Given the description of an element on the screen output the (x, y) to click on. 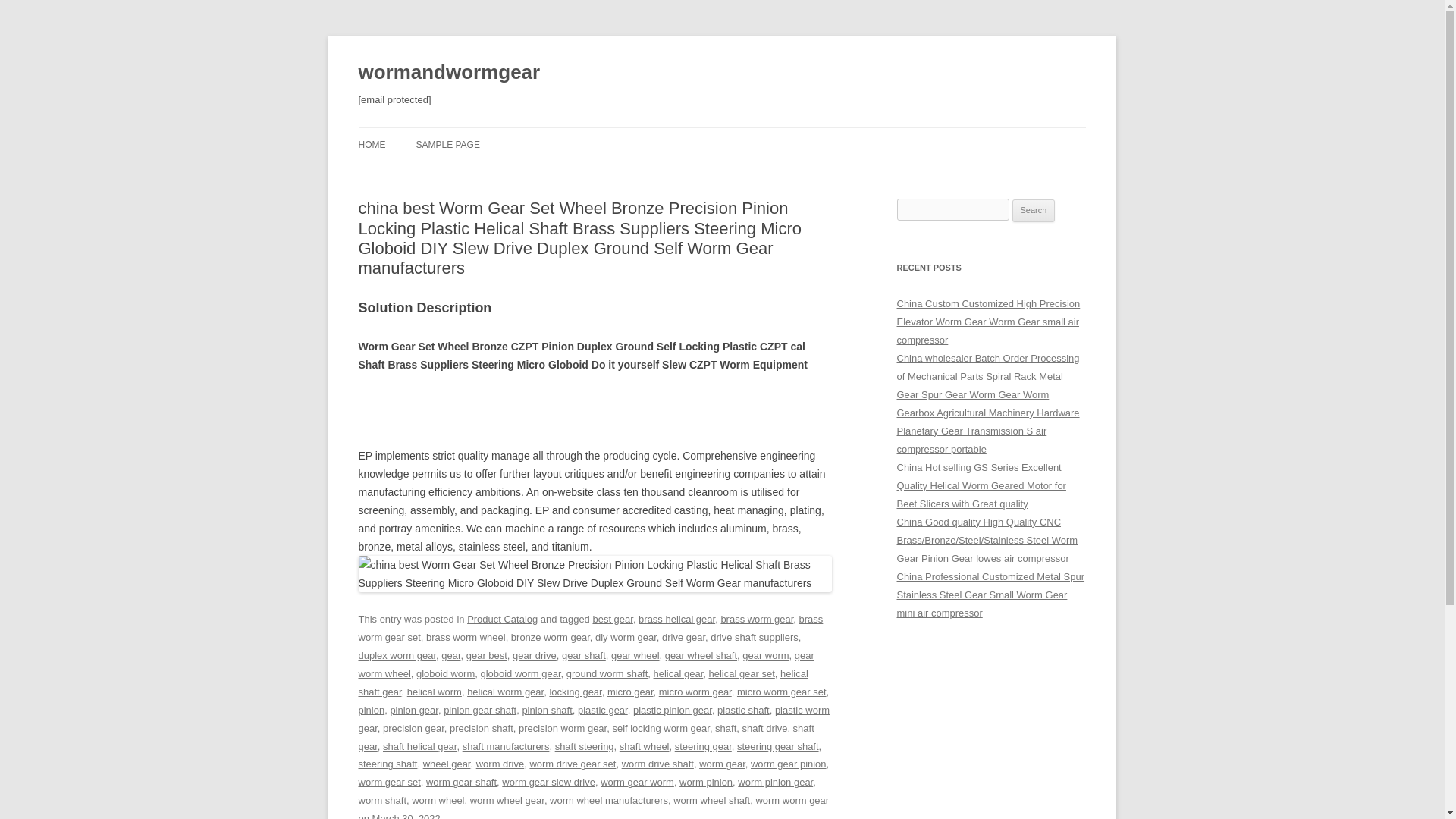
micro gear (630, 691)
gear wheel (635, 655)
gear best (485, 655)
brass worm gear set (590, 627)
gear worm (765, 655)
gear drive (534, 655)
helical worm gear (505, 691)
Product Catalog (502, 618)
diy worm gear (625, 636)
globoid worm gear (520, 673)
